Given the description of an element on the screen output the (x, y) to click on. 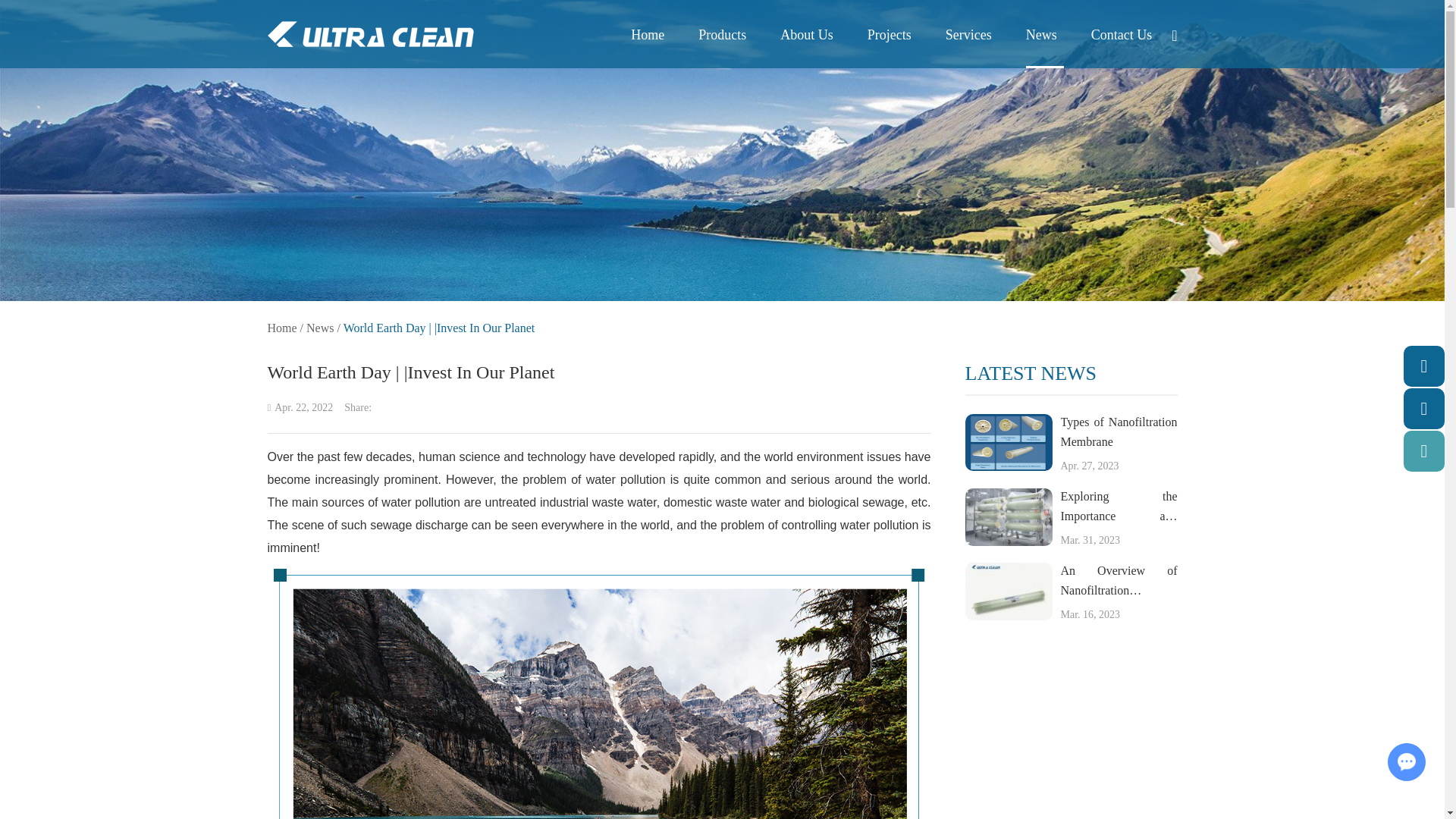
About Us (806, 46)
Products (721, 46)
Types of Nanofiltration Membrane (1007, 442)
UltraClean Membrane Co.,Ltd. (369, 34)
Types of Nanofiltration Membrane (1117, 432)
Projects (889, 46)
